Given the description of an element on the screen output the (x, y) to click on. 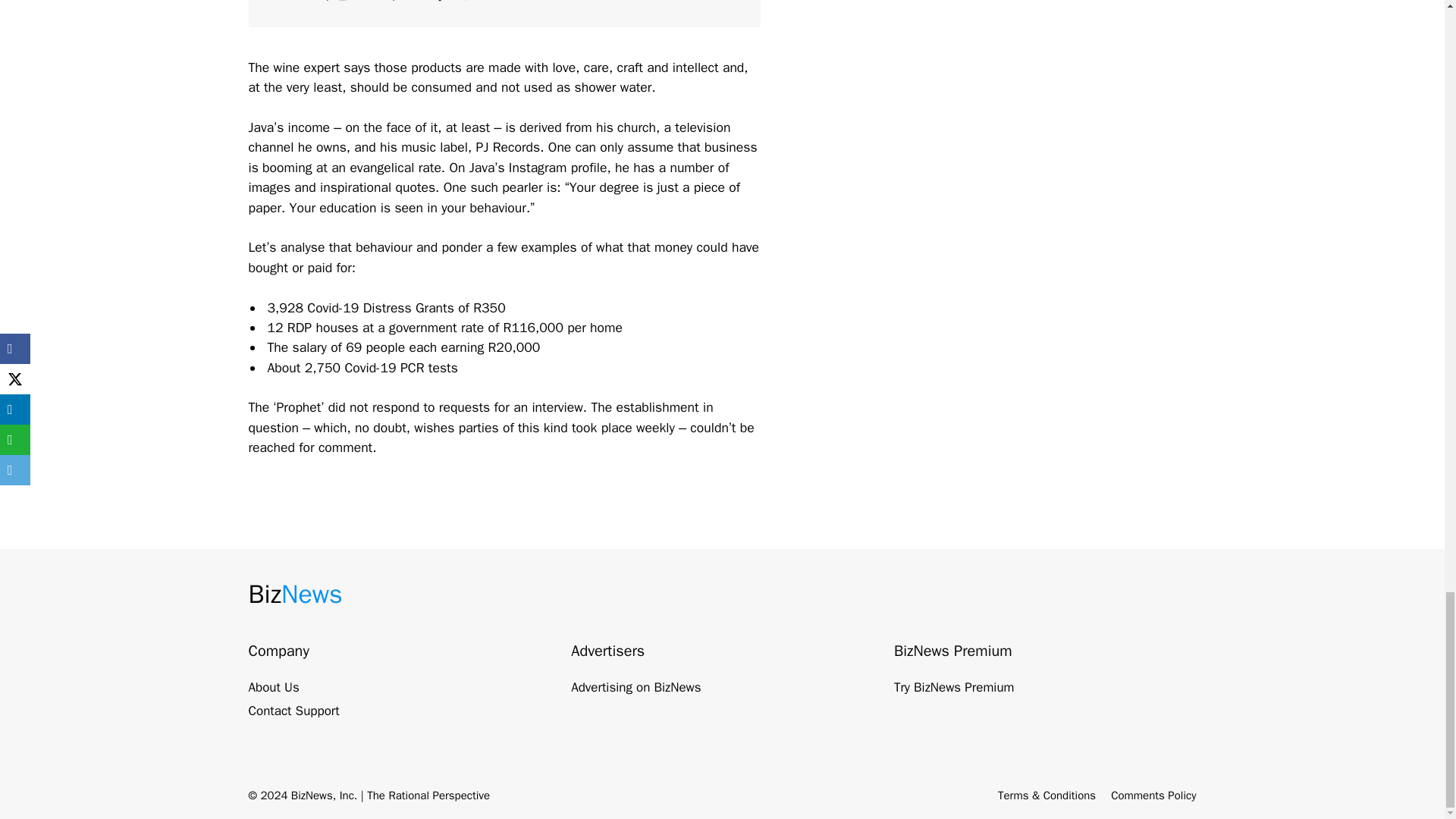
BizNews (295, 594)
